Given the description of an element on the screen output the (x, y) to click on. 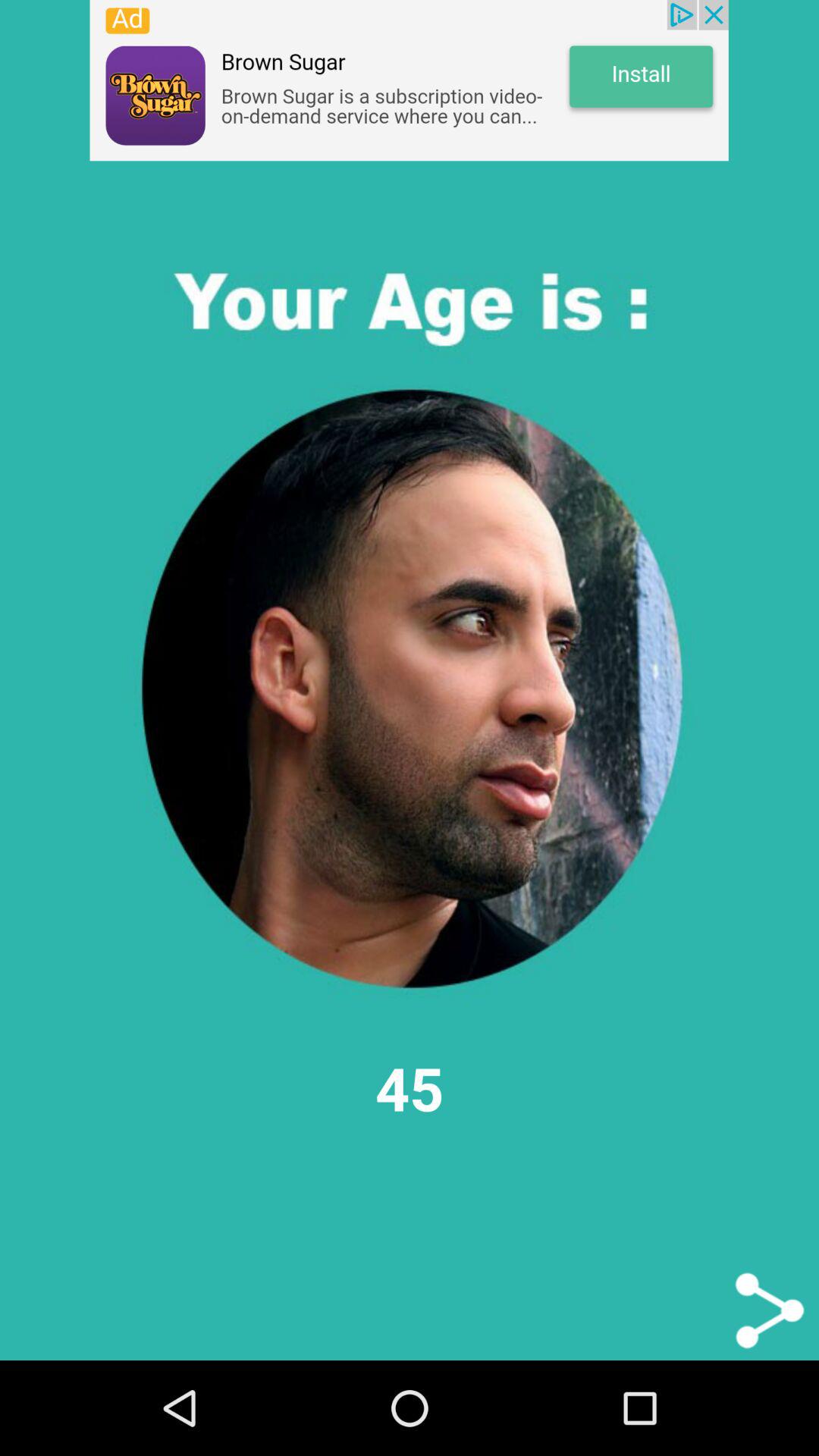
space where you access advertising (408, 80)
